Given the description of an element on the screen output the (x, y) to click on. 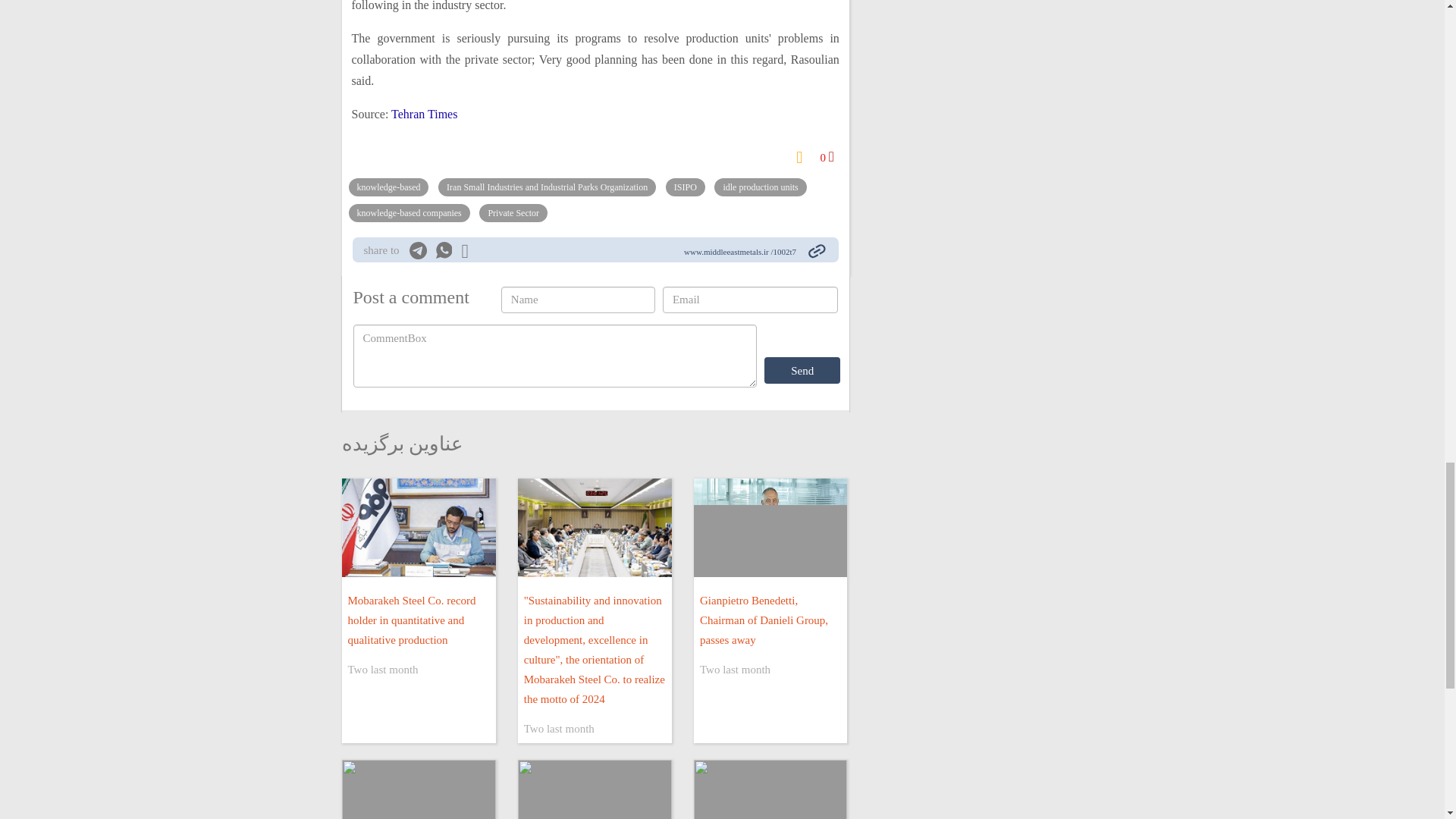
Send (802, 370)
